Given the description of an element on the screen output the (x, y) to click on. 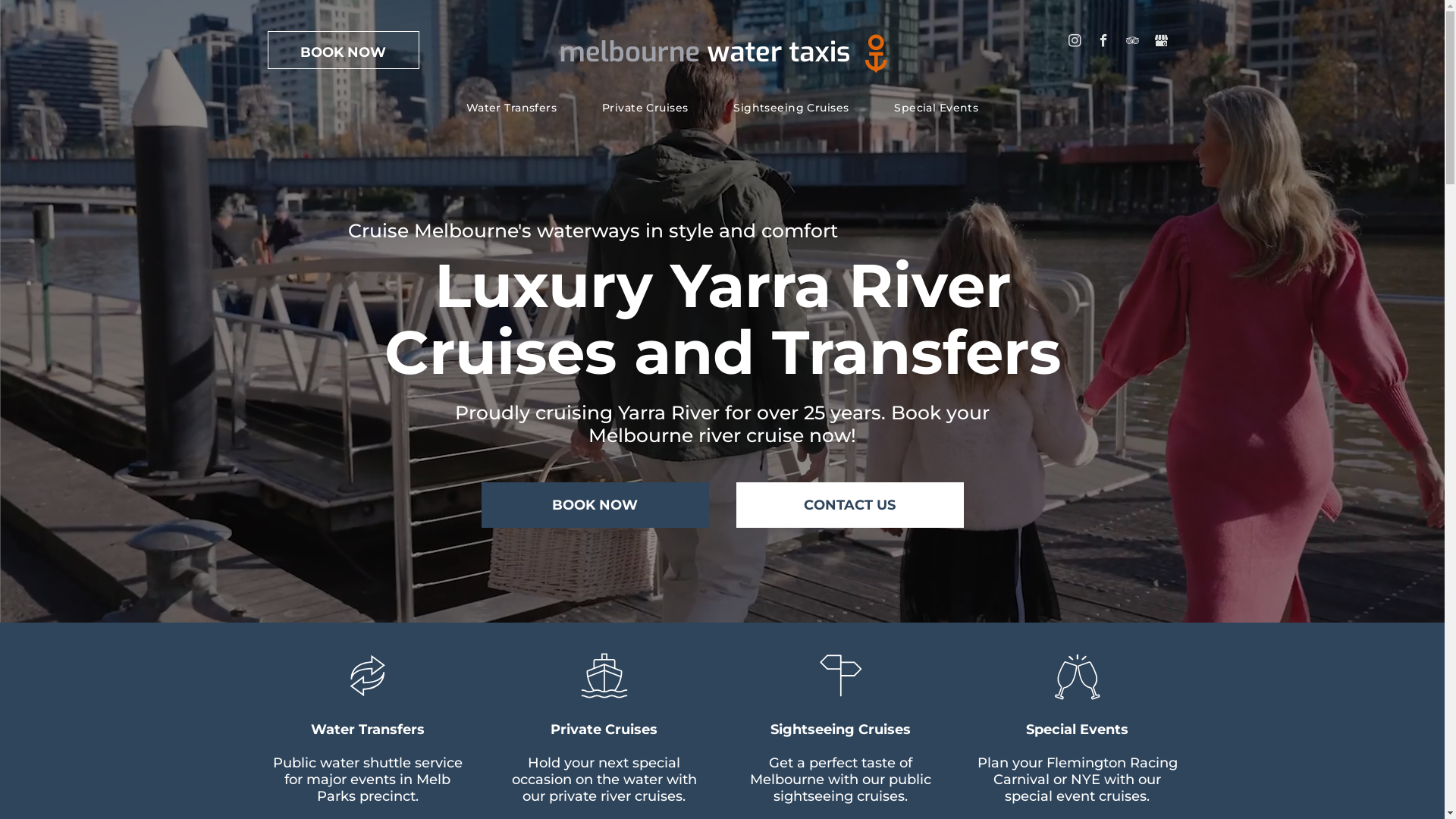
Special Events Element type: text (1077, 729)
Sightseeing Cruises Element type: text (790, 108)
CONTACT US Element type: text (849, 504)
Water Transfers Element type: text (367, 729)
Special Events Element type: text (936, 108)
Private Cruises Element type: text (603, 729)
Sightseeing Cruises Element type: text (840, 729)
Water Transfers Element type: text (511, 108)
BOOK NOW Element type: text (342, 50)
BOOK NOW Element type: text (594, 504)
Private Cruises Element type: text (644, 108)
